Given the description of an element on the screen output the (x, y) to click on. 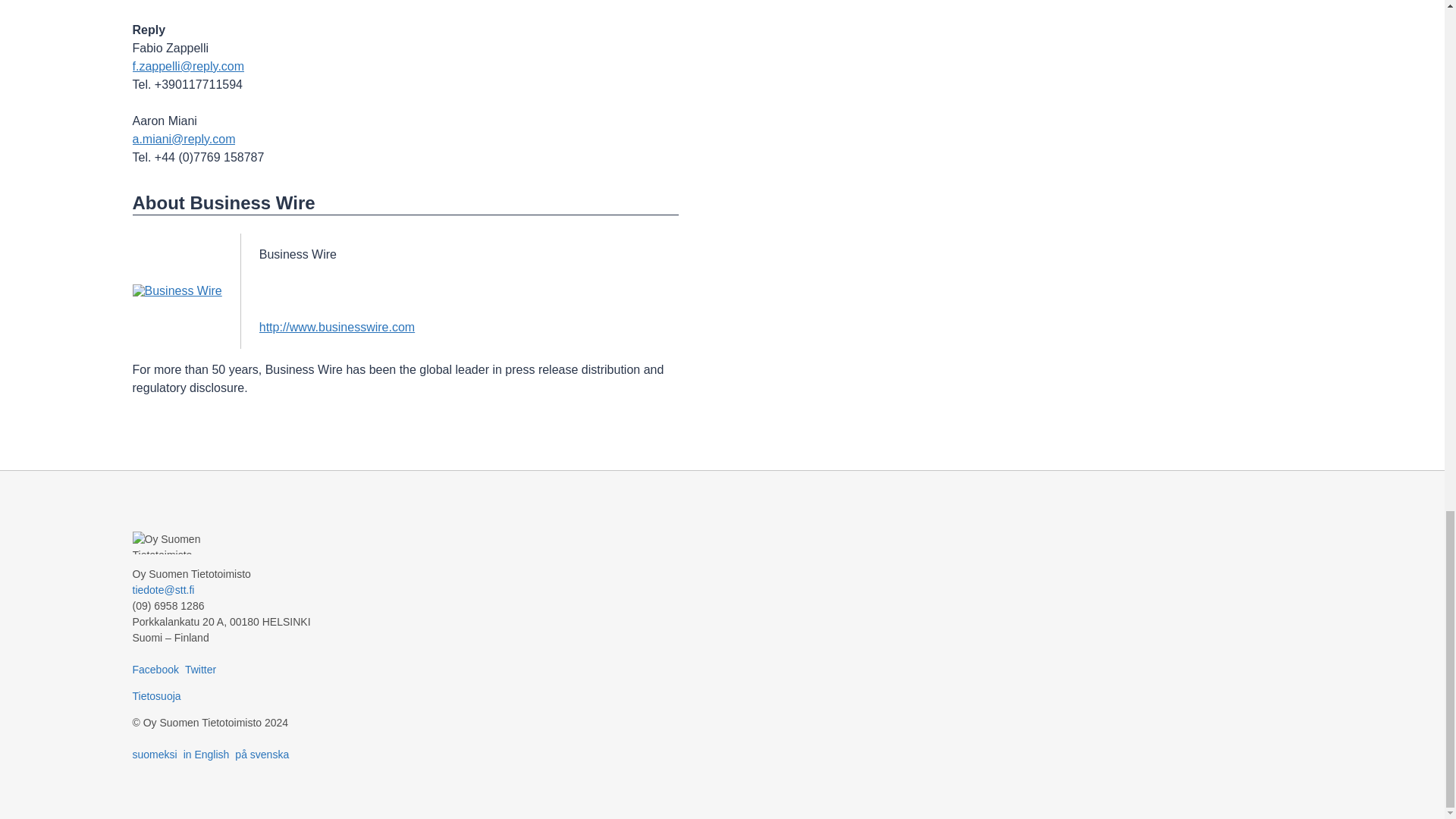
Twitter (199, 669)
Facebook (154, 669)
Tietosuoja (156, 695)
